Given the description of an element on the screen output the (x, y) to click on. 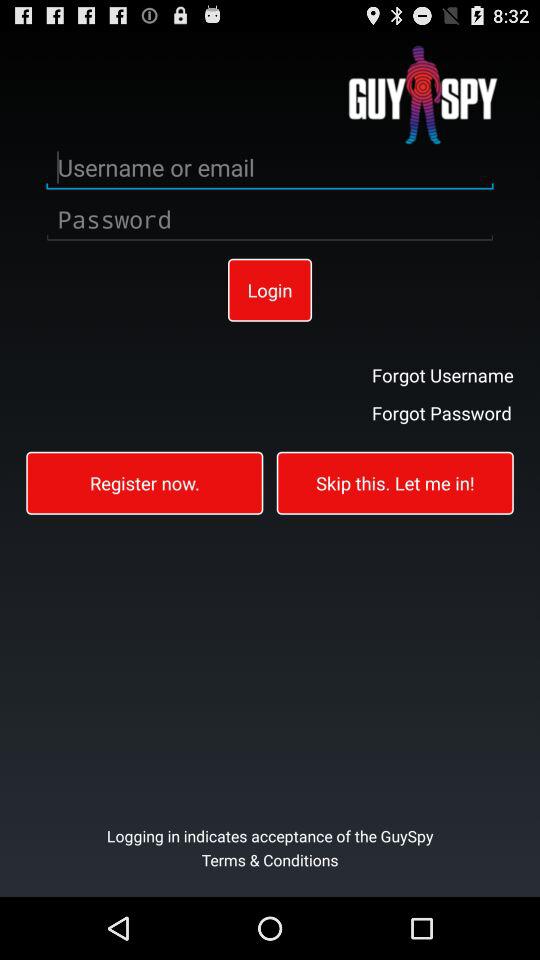
choose icon below the forgot username icon (442, 412)
